Given the description of an element on the screen output the (x, y) to click on. 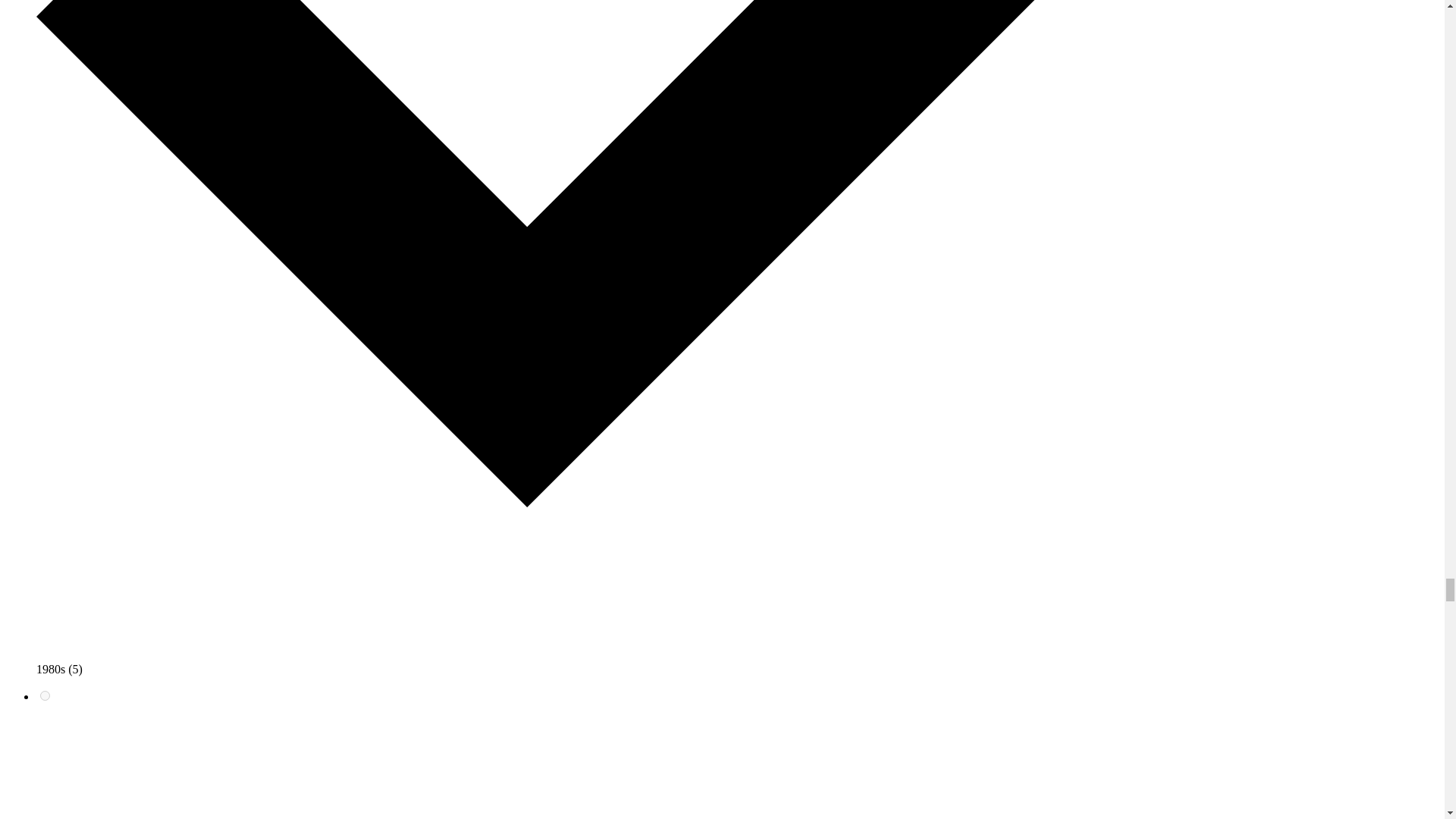
1970s (44, 696)
